Given the description of an element on the screen output the (x, y) to click on. 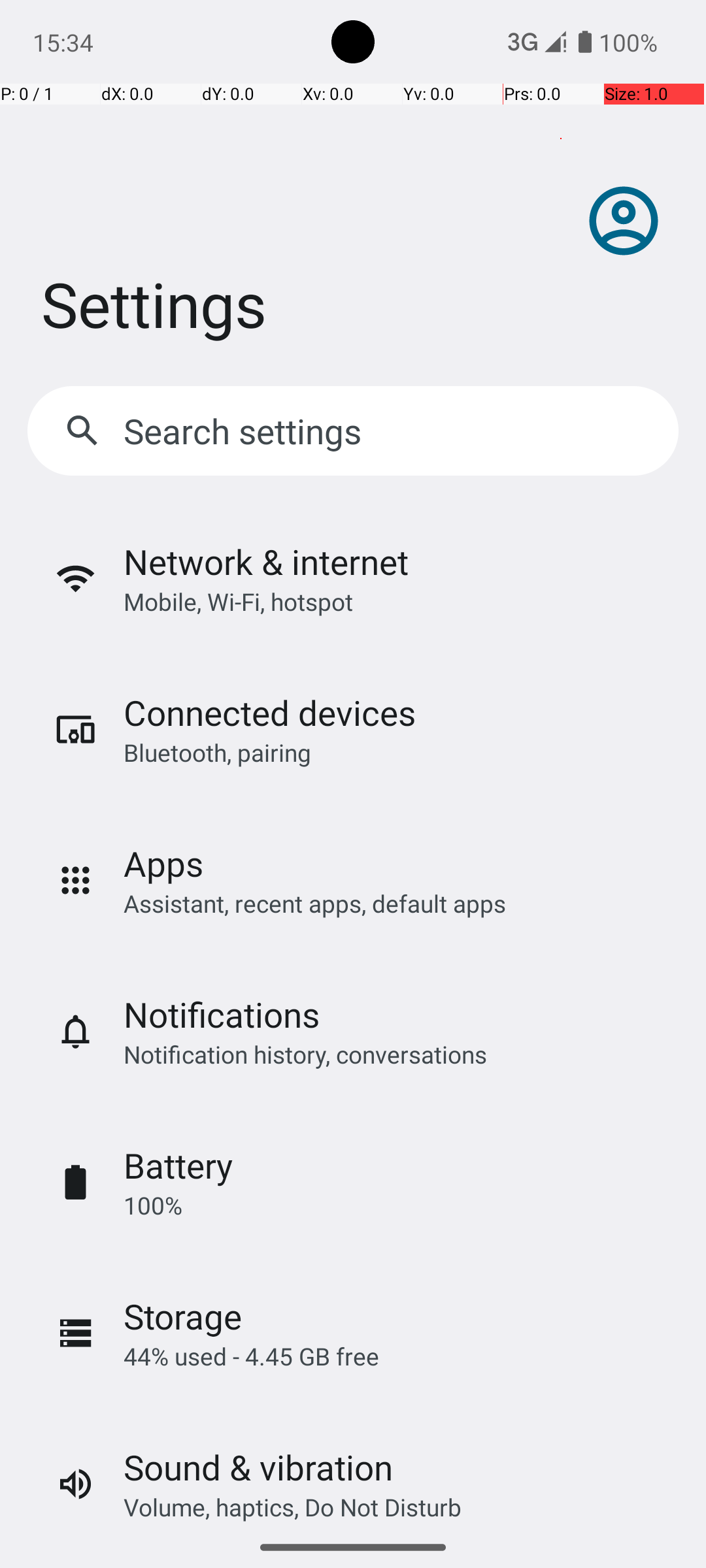
44% used - 4.45 GB free Element type: android.widget.TextView (251, 1355)
